Given the description of an element on the screen output the (x, y) to click on. 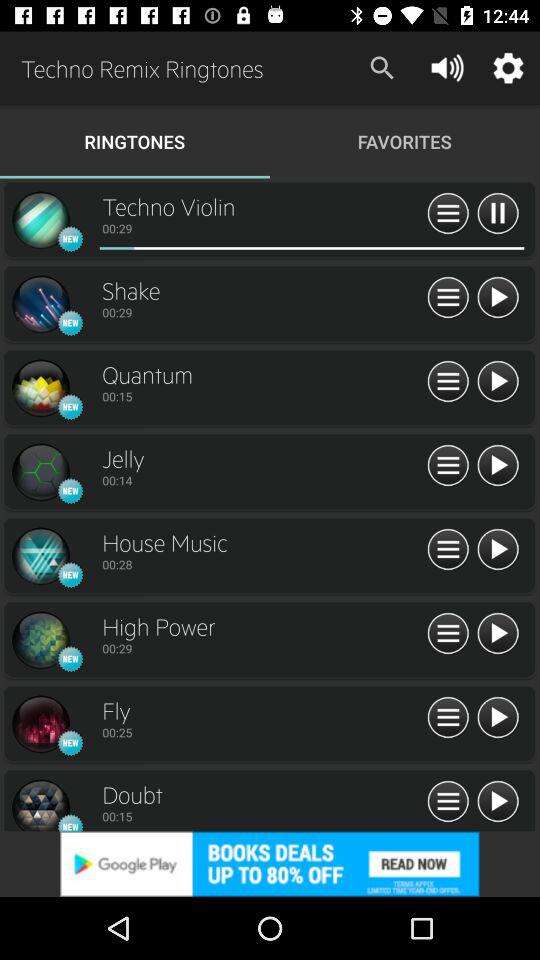
play ringtone (497, 381)
